Given the description of an element on the screen output the (x, y) to click on. 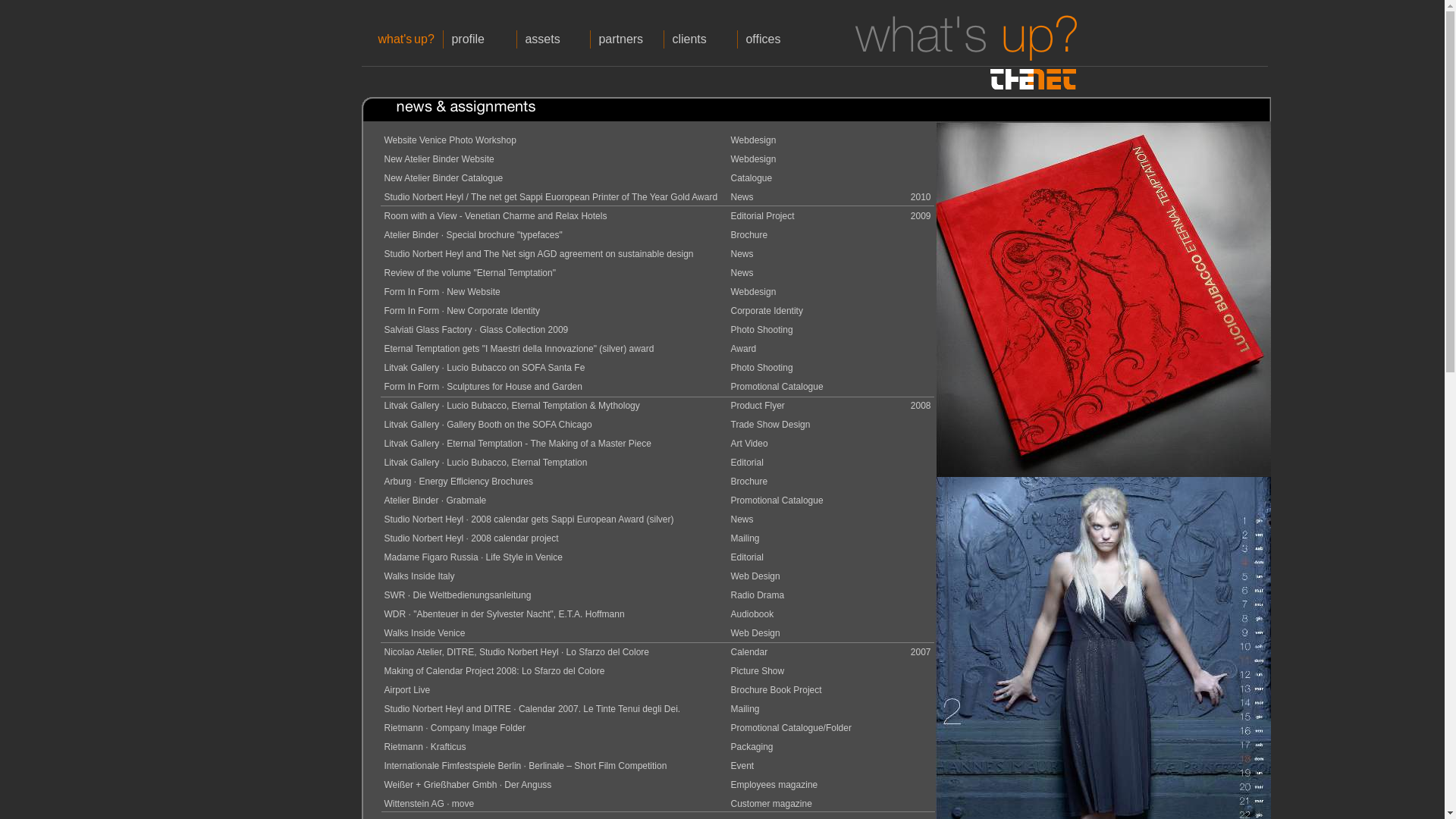
clients Element type: text (700, 39)
Airport Live Element type: text (406, 689)
Walks Inside Venice Element type: text (423, 632)
profile Element type: text (479, 39)
Walks Inside Italy Element type: text (418, 576)
Review of the volume "Eternal Temptation" Element type: text (469, 272)
assets Element type: text (553, 39)
what's up? Element type: text (406, 39)
Making of Calendar Project 2008: Lo Sfarzo del Colore Element type: text (493, 670)
offices Element type: text (773, 39)
Website Venice Photo Workshop Element type: text (449, 139)
partners Element type: text (626, 39)
Room with a View - Venetian Charme and Relax Hotels Element type: text (494, 215)
New Atelier Binder Catalogue Element type: text (442, 177)
New Atelier Binder Website Element type: text (438, 158)
